Given the description of an element on the screen output the (x, y) to click on. 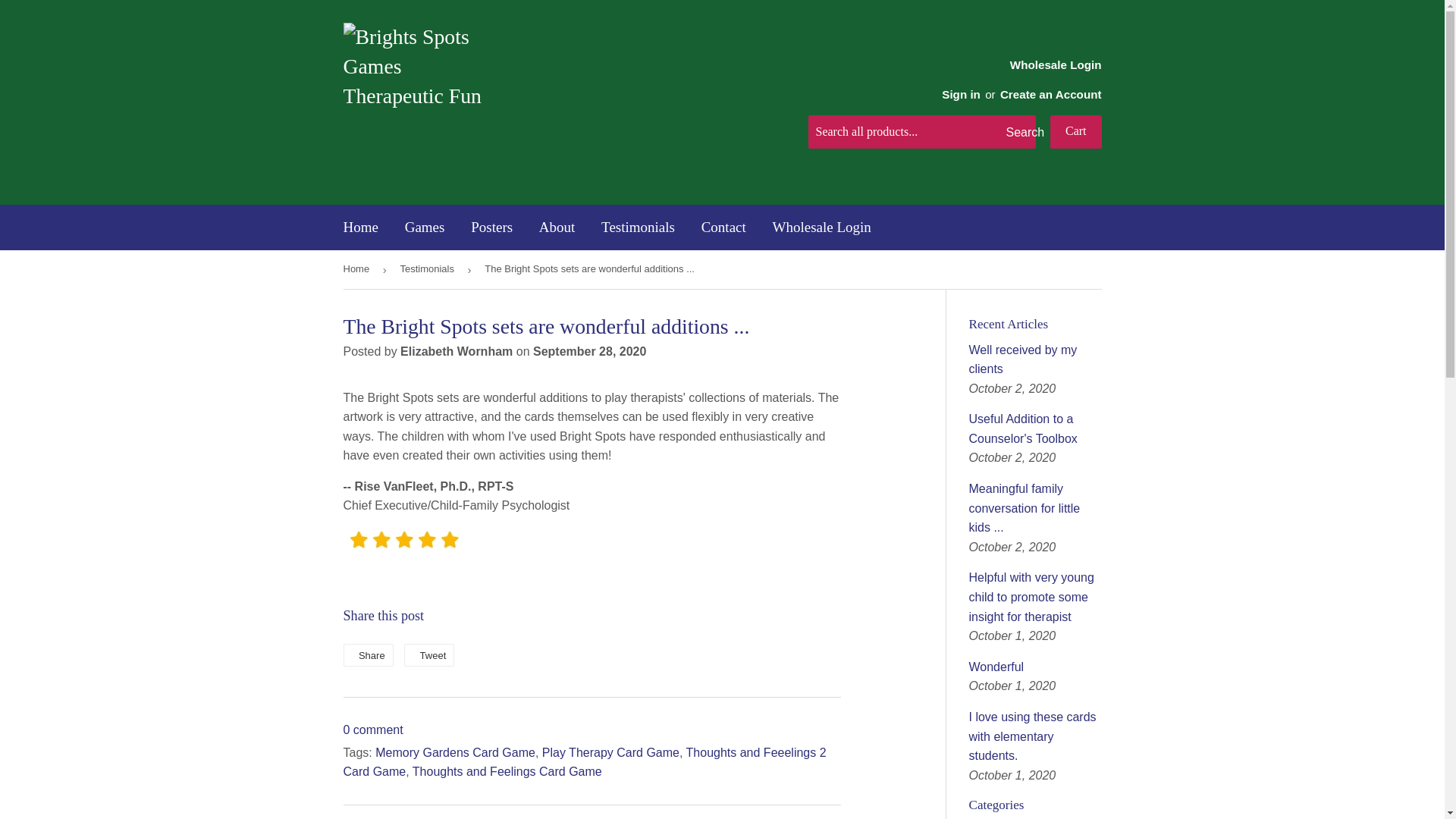
Create an Account (1051, 93)
Search (1018, 132)
Posters (492, 227)
Tweet on Twitter (429, 654)
Wholesale Login (1015, 78)
Cart (1075, 131)
Games (425, 227)
Home (360, 227)
Back to the frontpage (358, 269)
Share on Facebook (367, 654)
Sign in (960, 93)
About (556, 227)
